Given the description of an element on the screen output the (x, y) to click on. 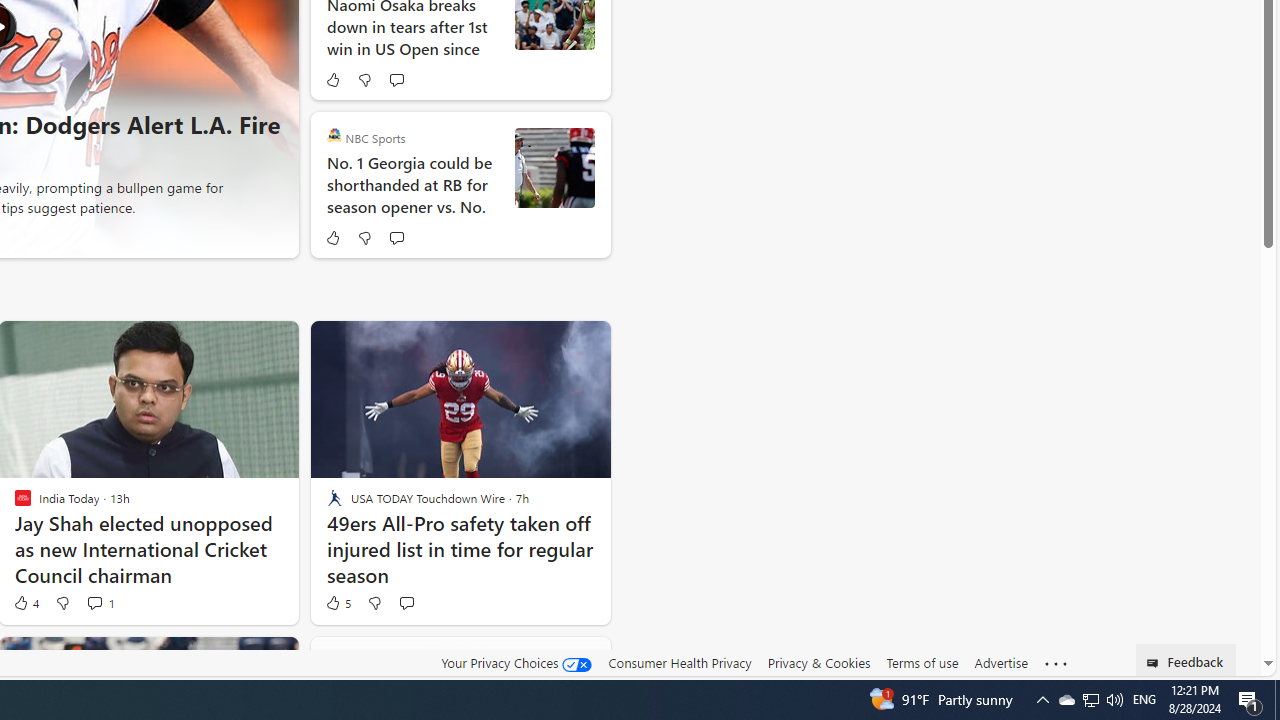
Kirby Smart (554, 168)
Your Privacy Choices (516, 663)
Dislike (374, 601)
View comments 1 Comment (93, 602)
NBC Sports (333, 135)
Class: oneFooter_seeMore-DS-EntryPoint1-1 (1055, 663)
Consumer Health Privacy (680, 663)
Advertise (1000, 663)
4 Like (25, 601)
Consumer Health Privacy (680, 662)
View comments 1 Comment (100, 601)
Start the conversation (406, 601)
next (271, 26)
